Given the description of an element on the screen output the (x, y) to click on. 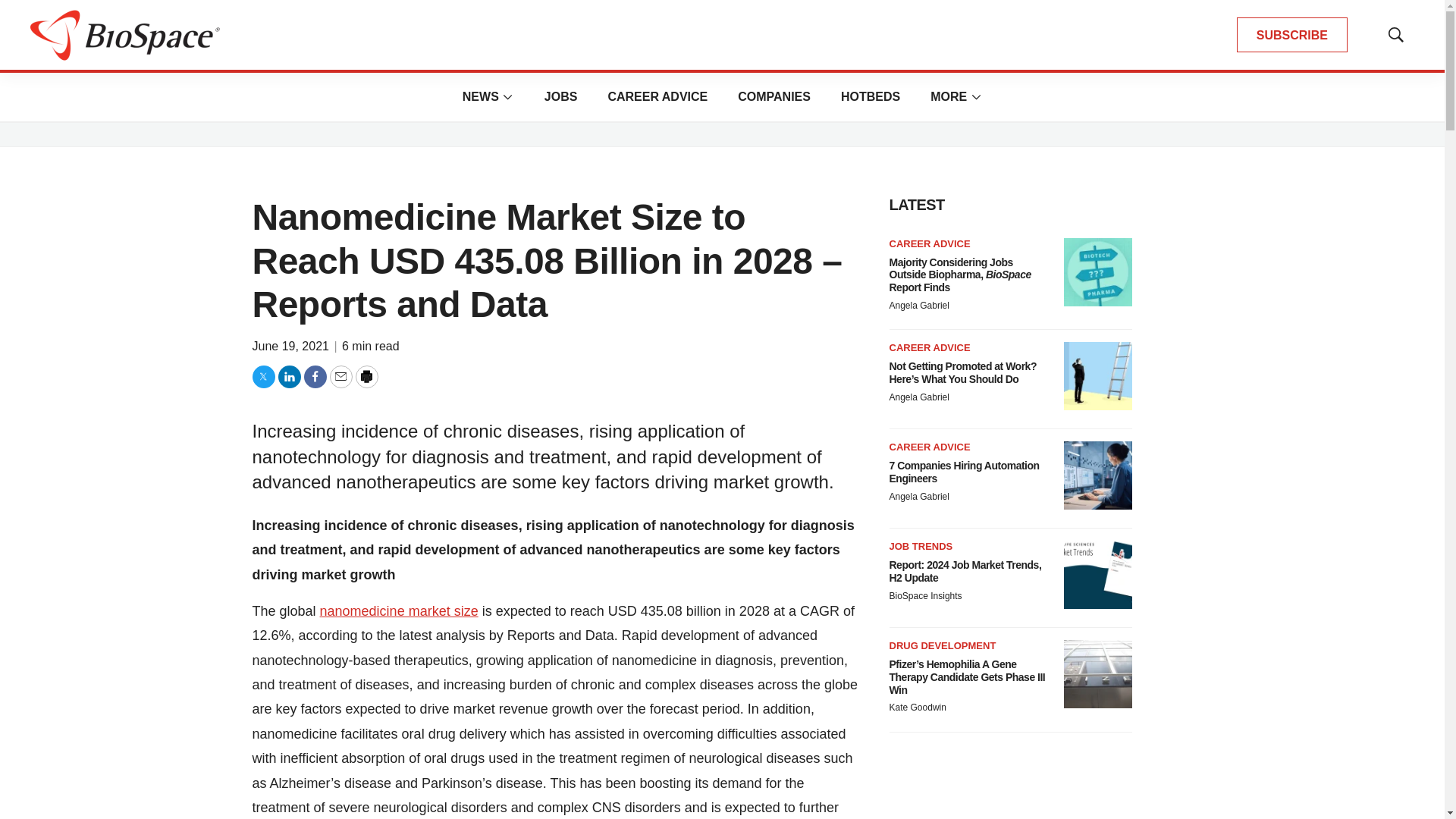
Show Search (1395, 34)
SUBSCRIBE (1292, 34)
NEWS (481, 96)
